Given the description of an element on the screen output the (x, y) to click on. 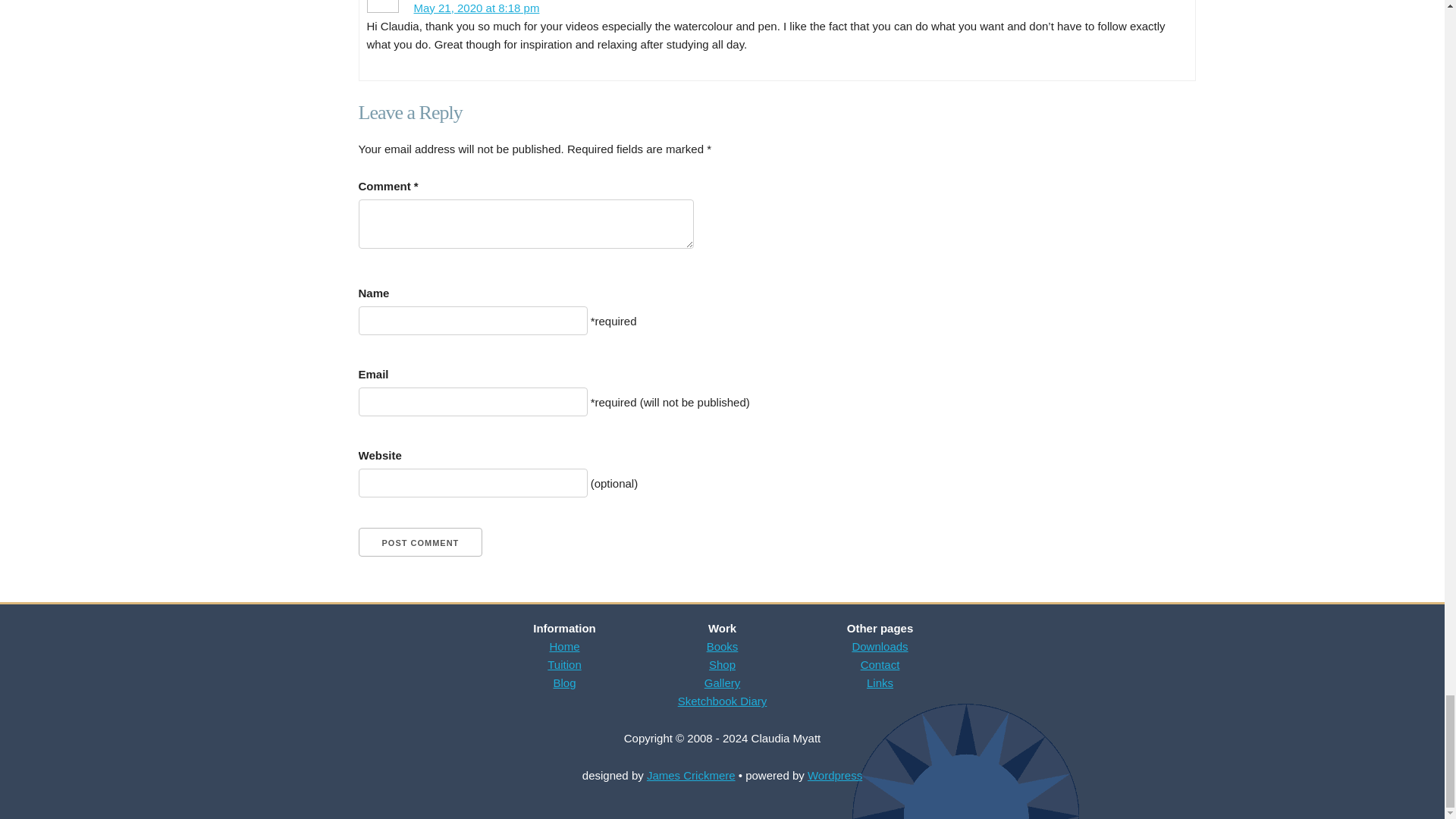
Links (879, 682)
Contact (879, 664)
James Crickmere (690, 775)
Wordpress (834, 775)
Tuition (563, 664)
Shop (722, 664)
Post Comment (419, 541)
Gallery (722, 682)
Home (563, 645)
Post Comment (419, 541)
